Given the description of an element on the screen output the (x, y) to click on. 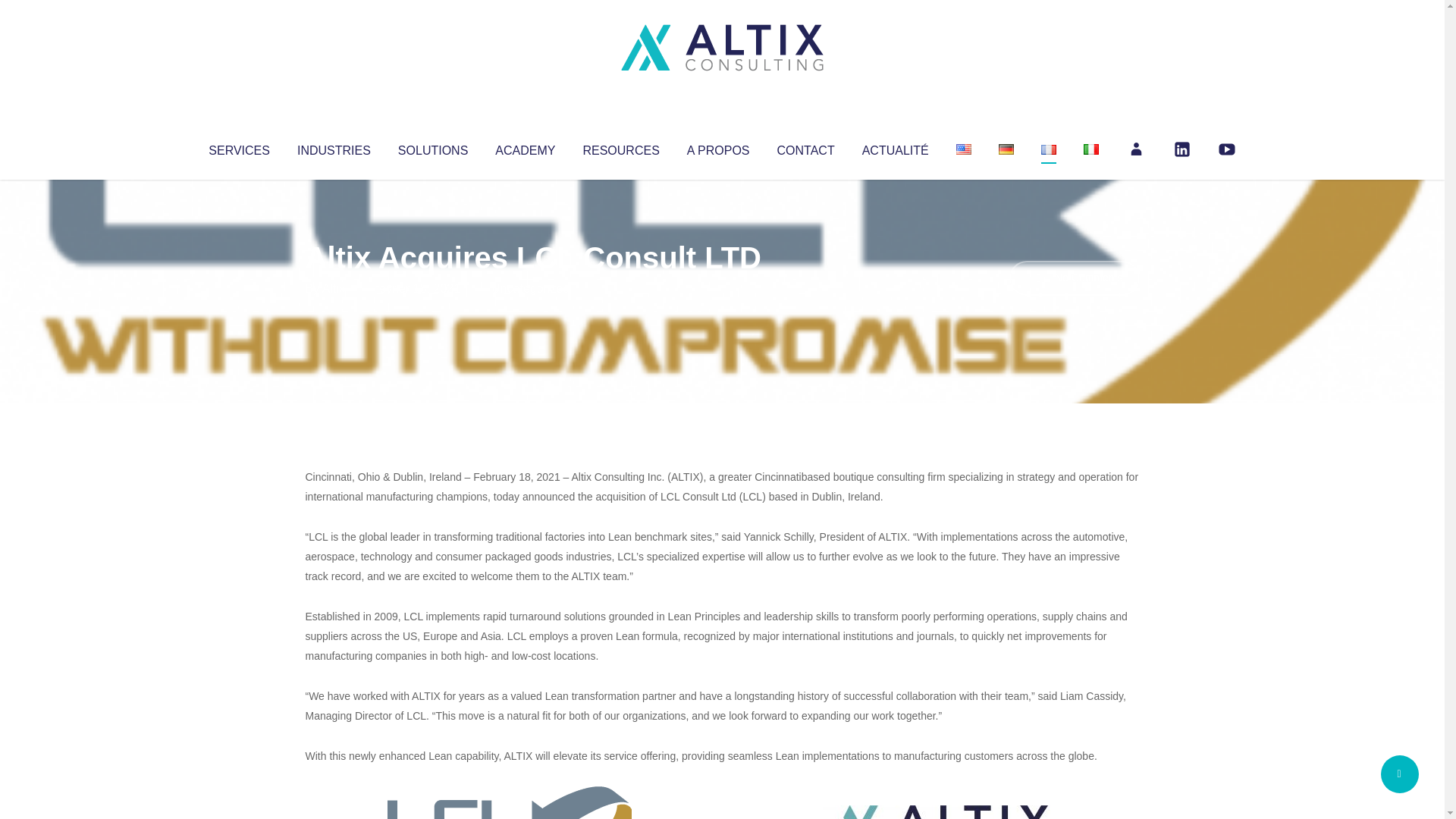
A PROPOS (718, 146)
SOLUTIONS (432, 146)
INDUSTRIES (334, 146)
Articles par Altix (333, 287)
SERVICES (238, 146)
ACADEMY (524, 146)
No Comments (1073, 278)
RESOURCES (620, 146)
Uncategorized (530, 287)
Altix (333, 287)
